Given the description of an element on the screen output the (x, y) to click on. 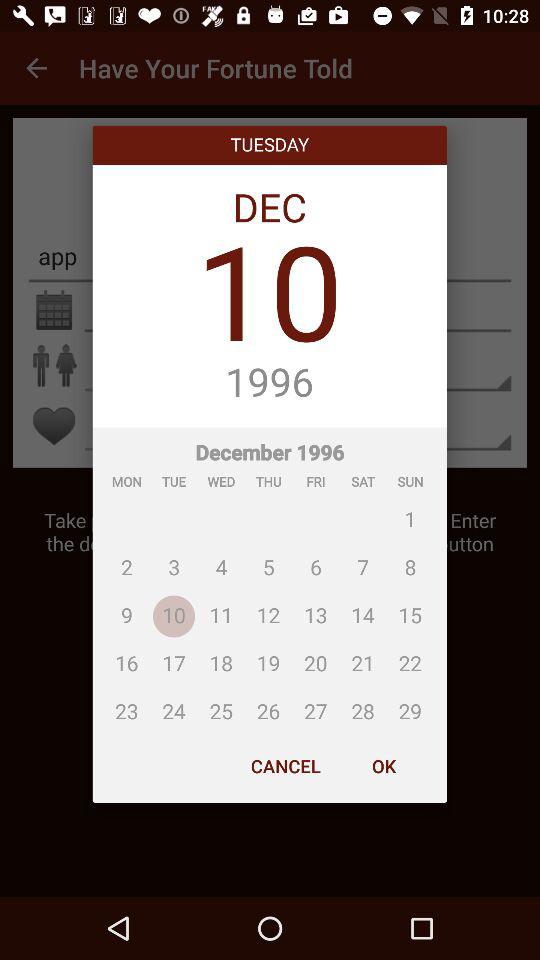
select the ok (383, 765)
